Given the description of an element on the screen output the (x, y) to click on. 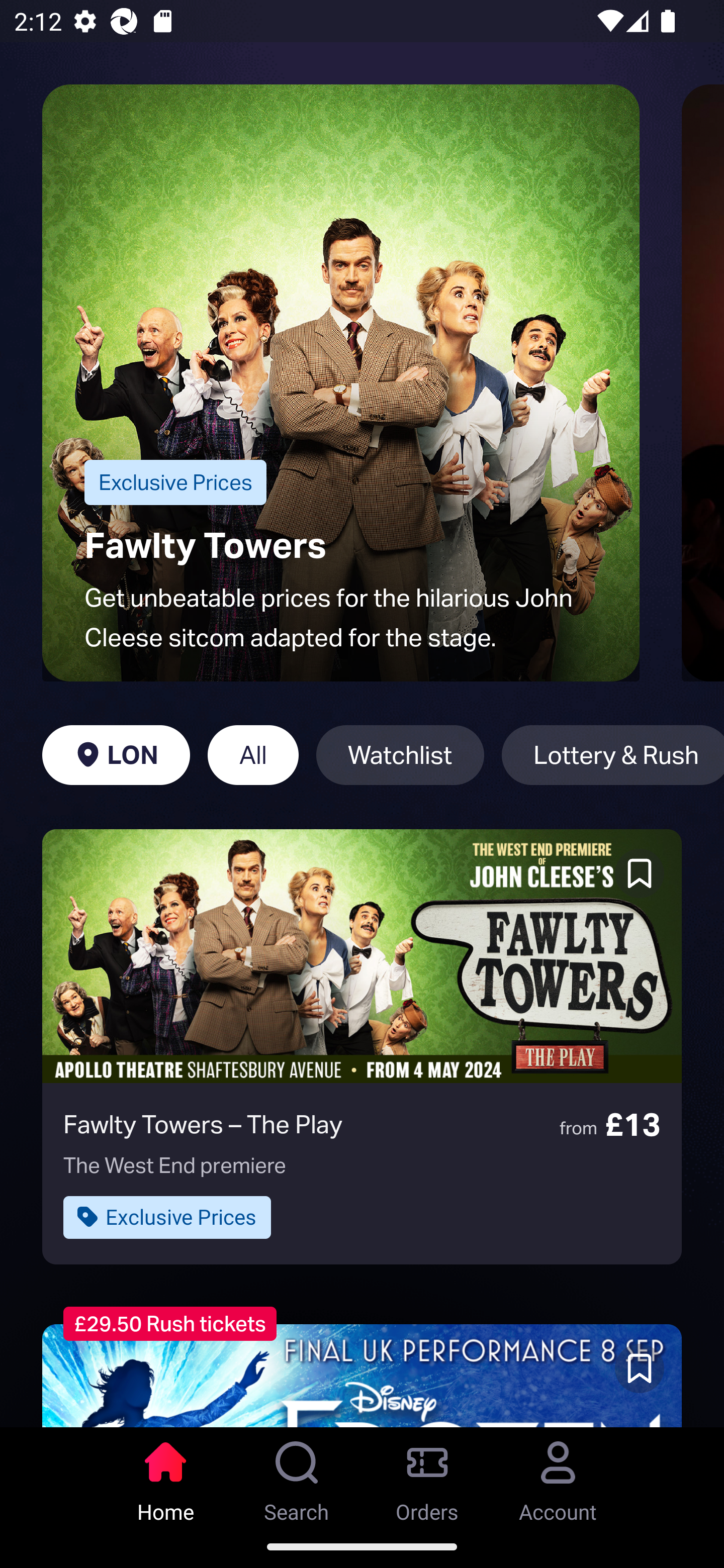
LON (115, 754)
All (252, 754)
Watchlist (400, 754)
Lottery & Rush (612, 754)
Search (296, 1475)
Orders (427, 1475)
Account (558, 1475)
